Given the description of an element on the screen output the (x, y) to click on. 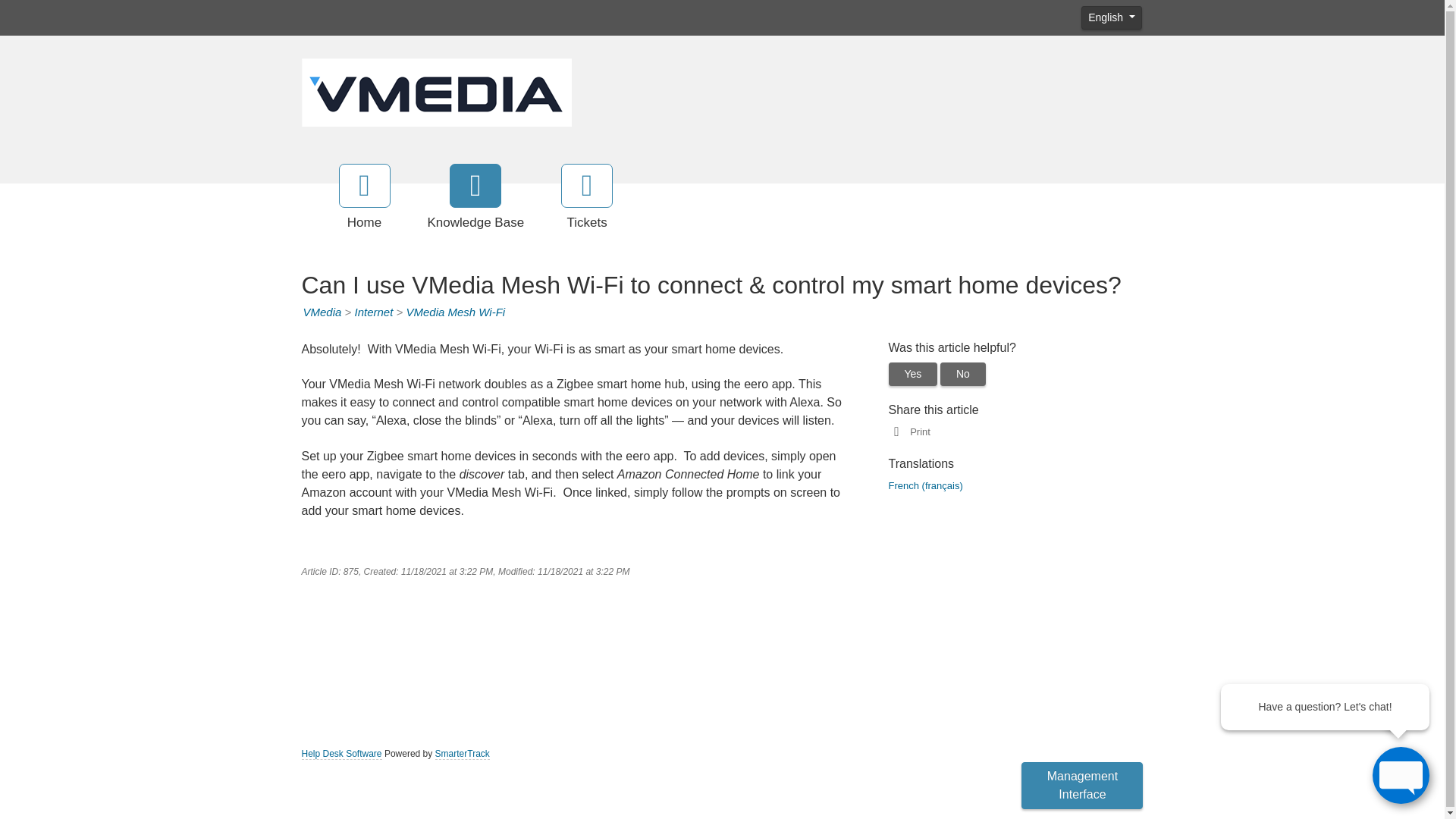
Knowledge Base (476, 197)
Yes (912, 373)
Chat with us! (1401, 774)
English (1111, 17)
VMEDIA (436, 90)
Home (364, 197)
Tickets (586, 197)
Internet (373, 311)
VMedia (322, 311)
No (962, 373)
VMedia Mesh Wi-Fi (455, 311)
